Given the description of an element on the screen output the (x, y) to click on. 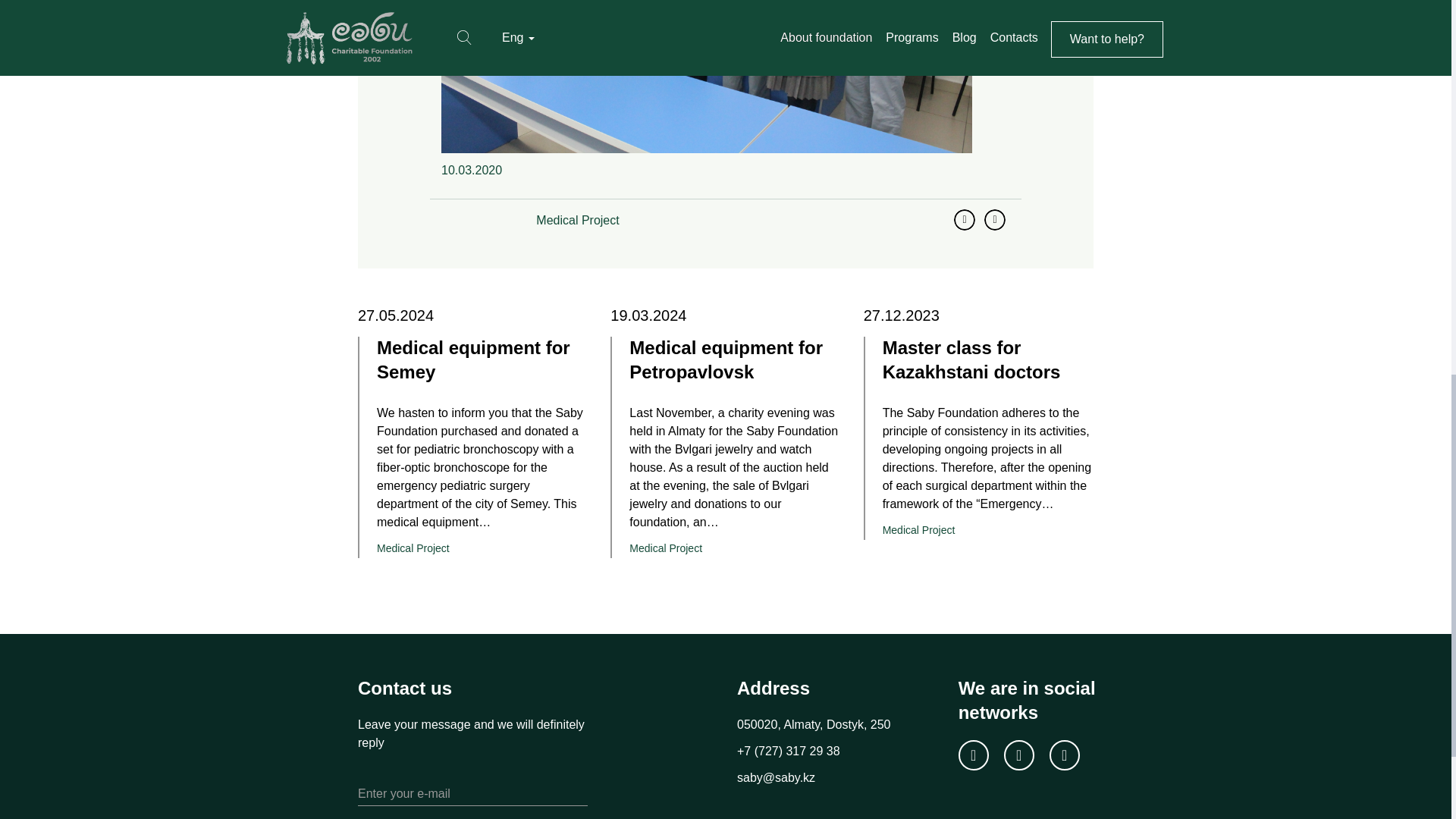
Master class for Kazakhstani doctors (987, 365)
Medical equipment for Petropavlovsk (734, 365)
Medical equipment for Semey (482, 365)
Medical Project (482, 548)
Medical Project (576, 219)
Medical Project (987, 530)
Telegram (995, 219)
Medical Project (734, 548)
